Given the description of an element on the screen output the (x, y) to click on. 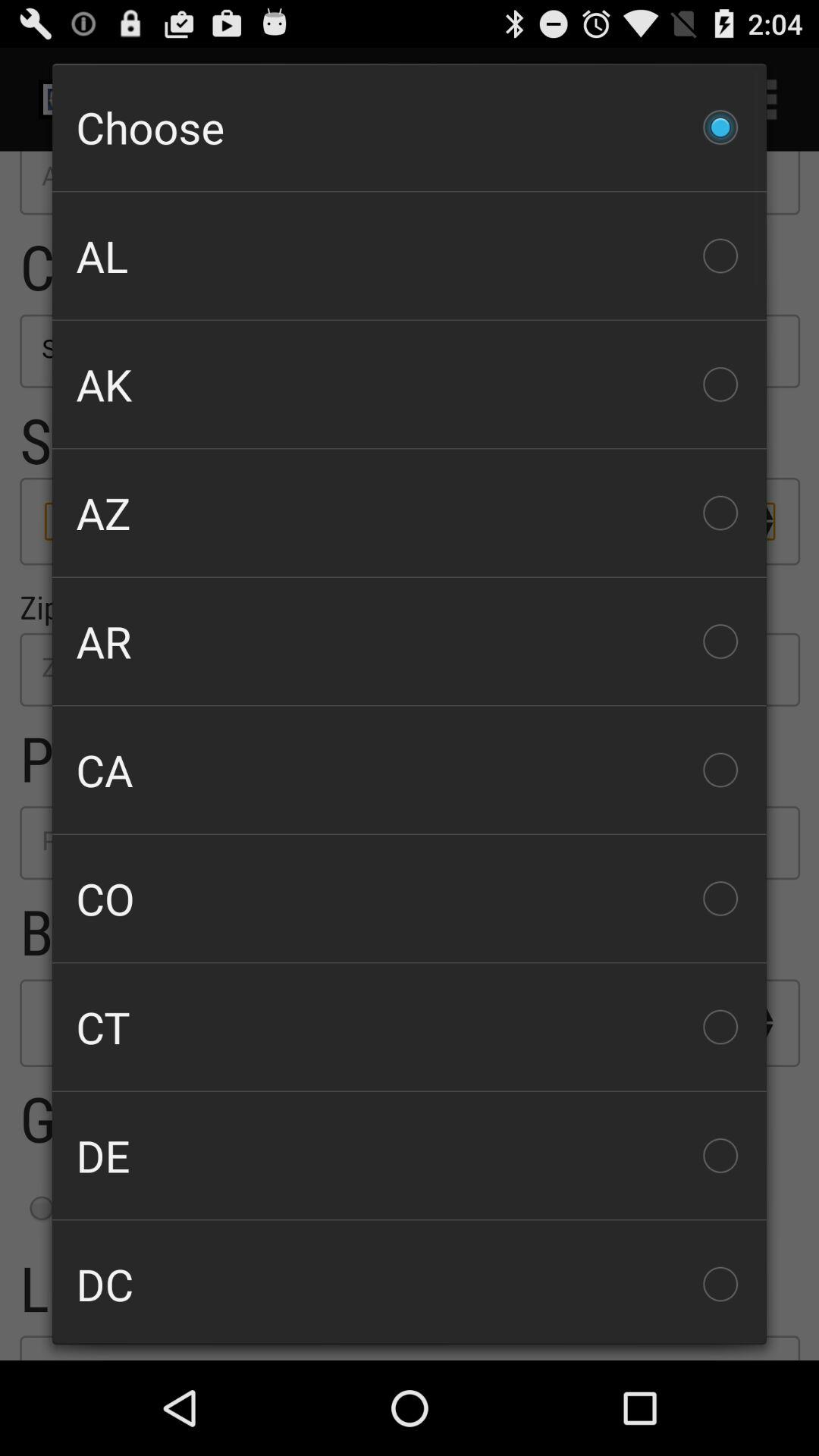
scroll until ca checkbox (409, 769)
